Given the description of an element on the screen output the (x, y) to click on. 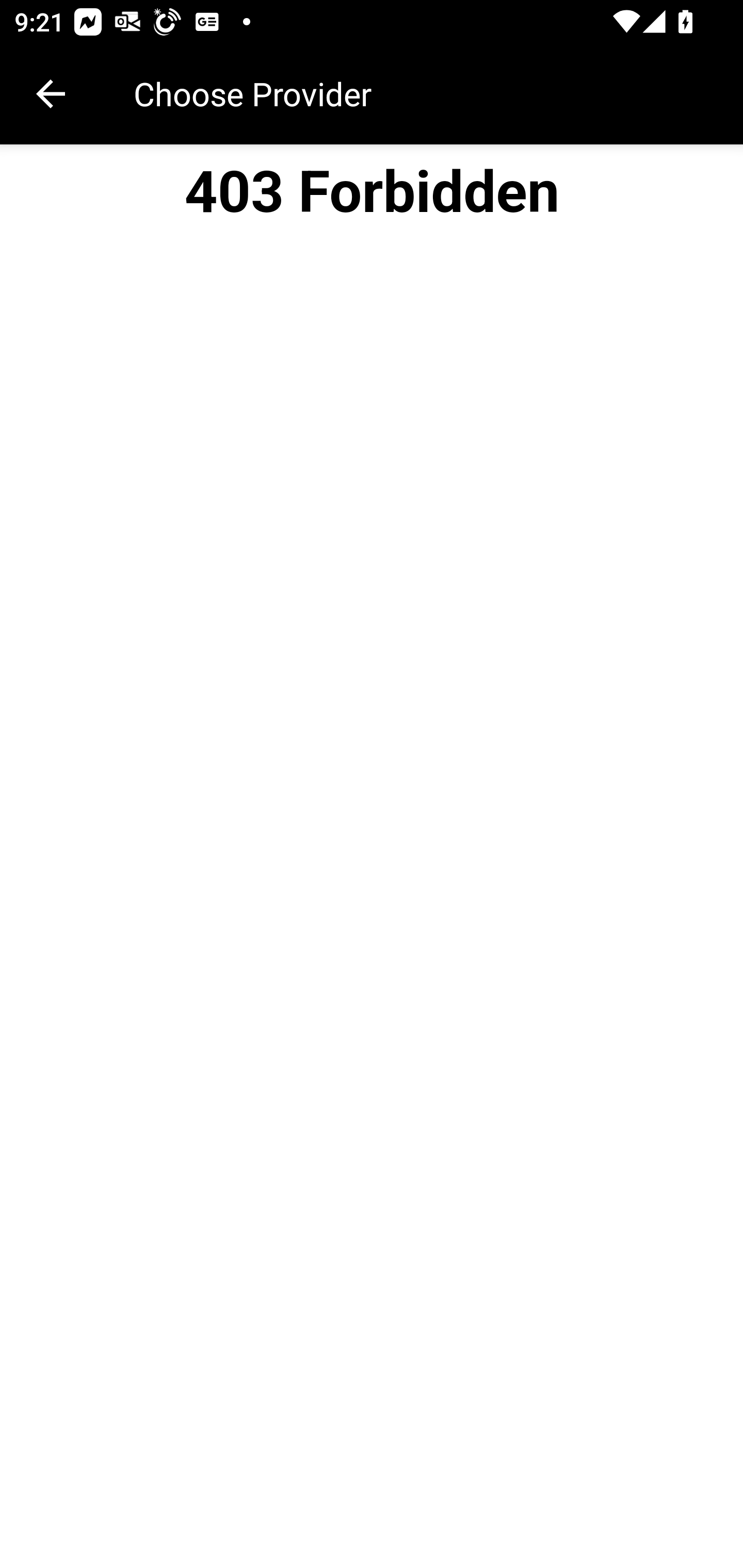
Navigate up (50, 93)
